Given the description of an element on the screen output the (x, y) to click on. 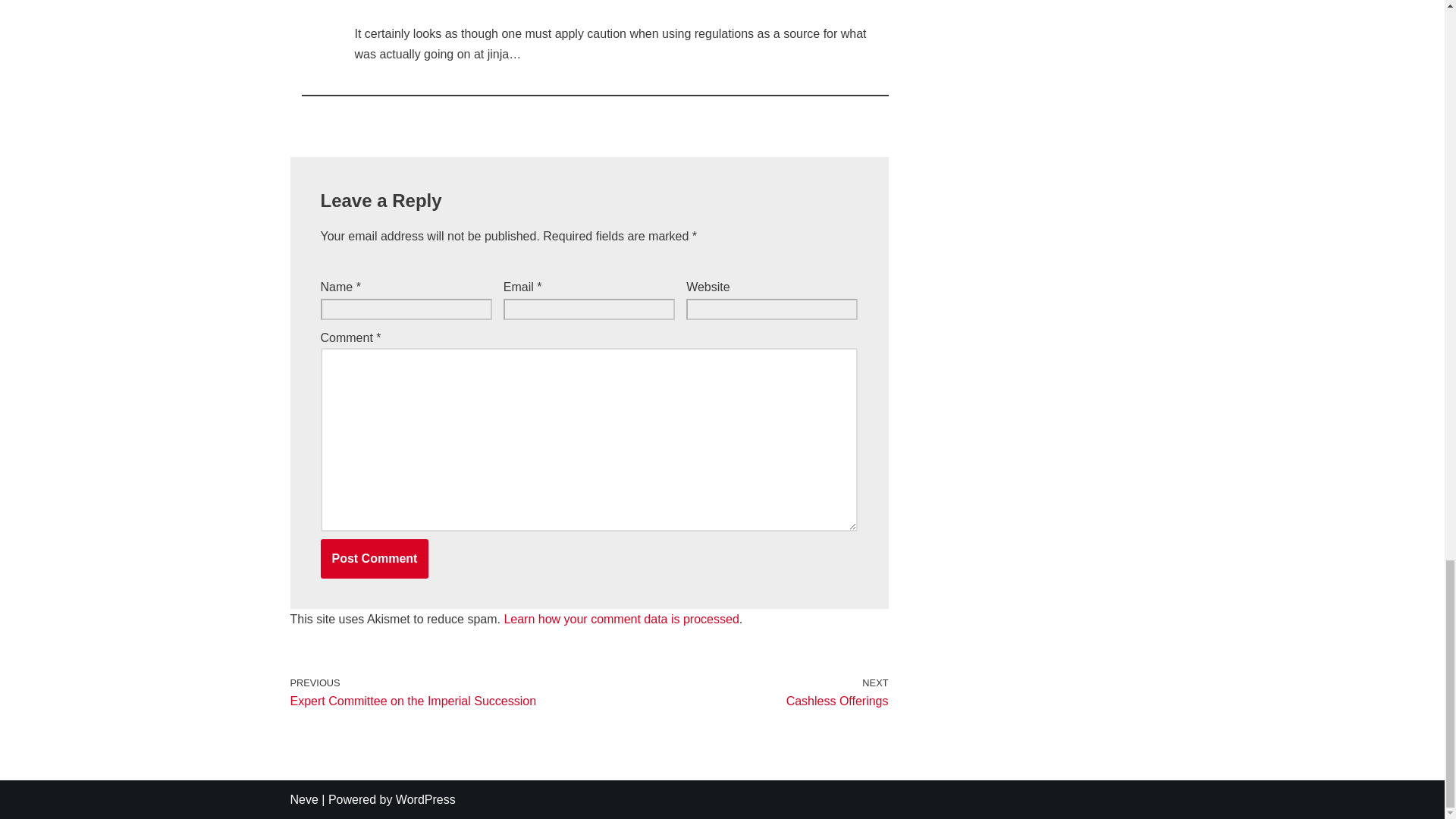
Post Comment (742, 692)
Learn how your comment data is processed (374, 558)
Post Comment (620, 618)
